Given the description of an element on the screen output the (x, y) to click on. 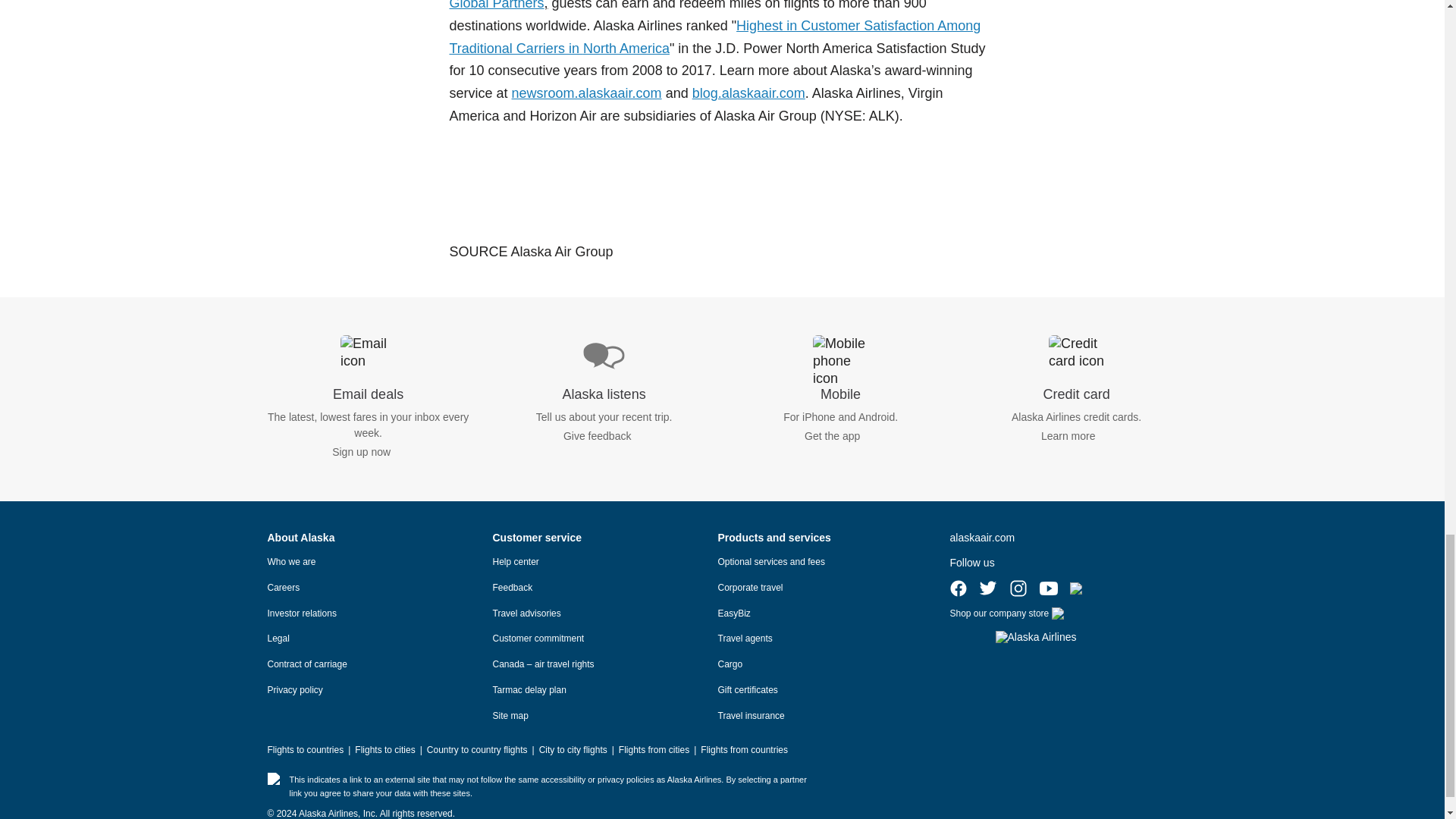
Who we are (290, 561)
Legal (277, 638)
Investor relations (301, 613)
Sign up now (360, 451)
blog.alaskaair.com (749, 92)
Learn more (1068, 435)
newsroom.alaskaair.com (587, 92)
Help center (515, 561)
Contract of carriage (306, 664)
Feedback (512, 587)
